Given the description of an element on the screen output the (x, y) to click on. 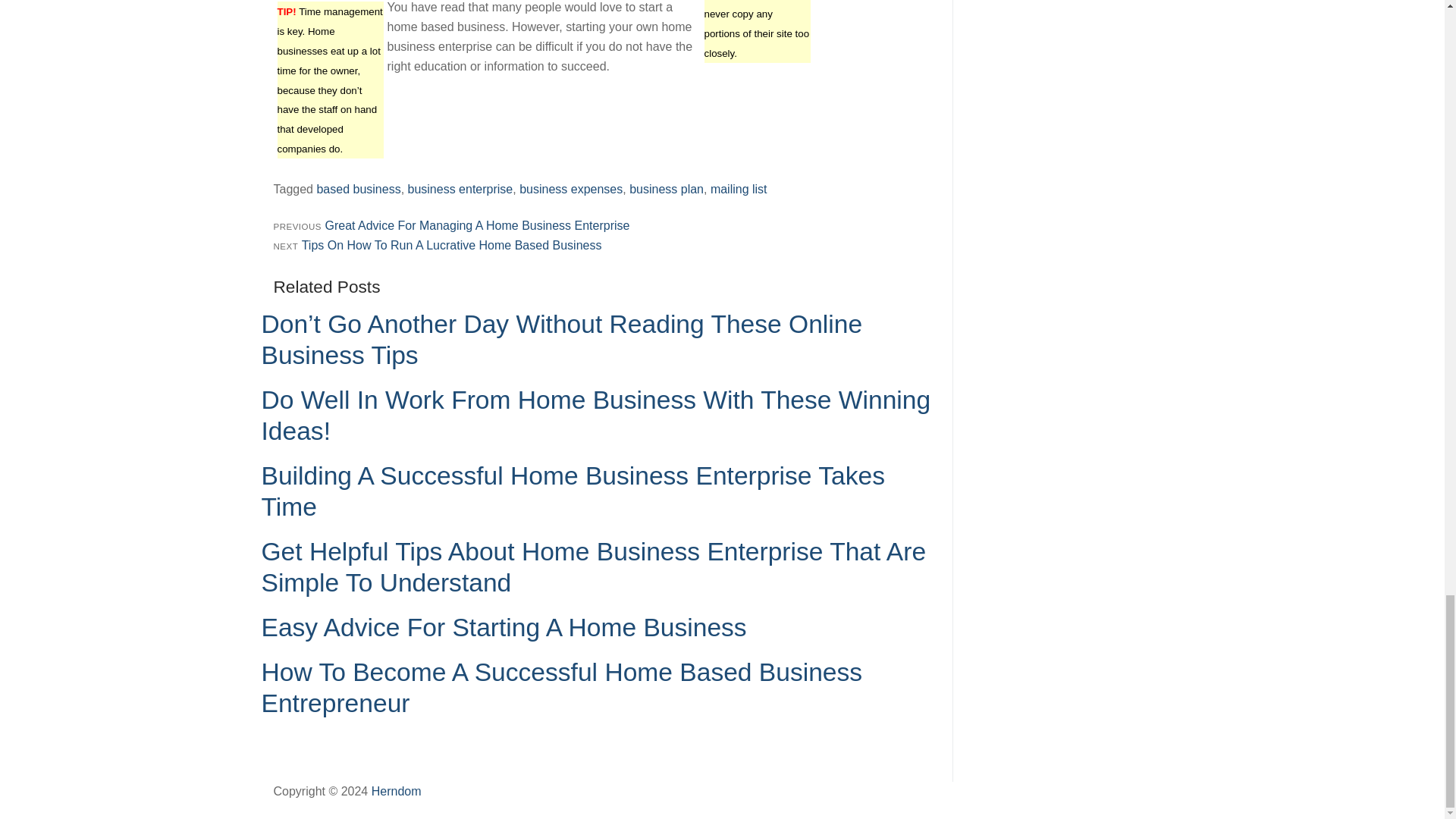
business enterprise (460, 188)
How To Become A Successful Home Based Business Entrepreneur (560, 687)
Do Well In Work From Home Business With These Winning Ideas! (595, 415)
Building A Successful Home Business Enterprise Takes Time (571, 490)
Easy Advice For Starting A Home Business (502, 627)
business plan (665, 188)
based business (357, 188)
Easy Advice For Starting A Home Business (502, 627)
Building A Successful Home Business Enterprise Takes Time (571, 490)
business expenses (571, 188)
How To Become A Successful Home Based Business Entrepreneur (560, 687)
